Given the description of an element on the screen output the (x, y) to click on. 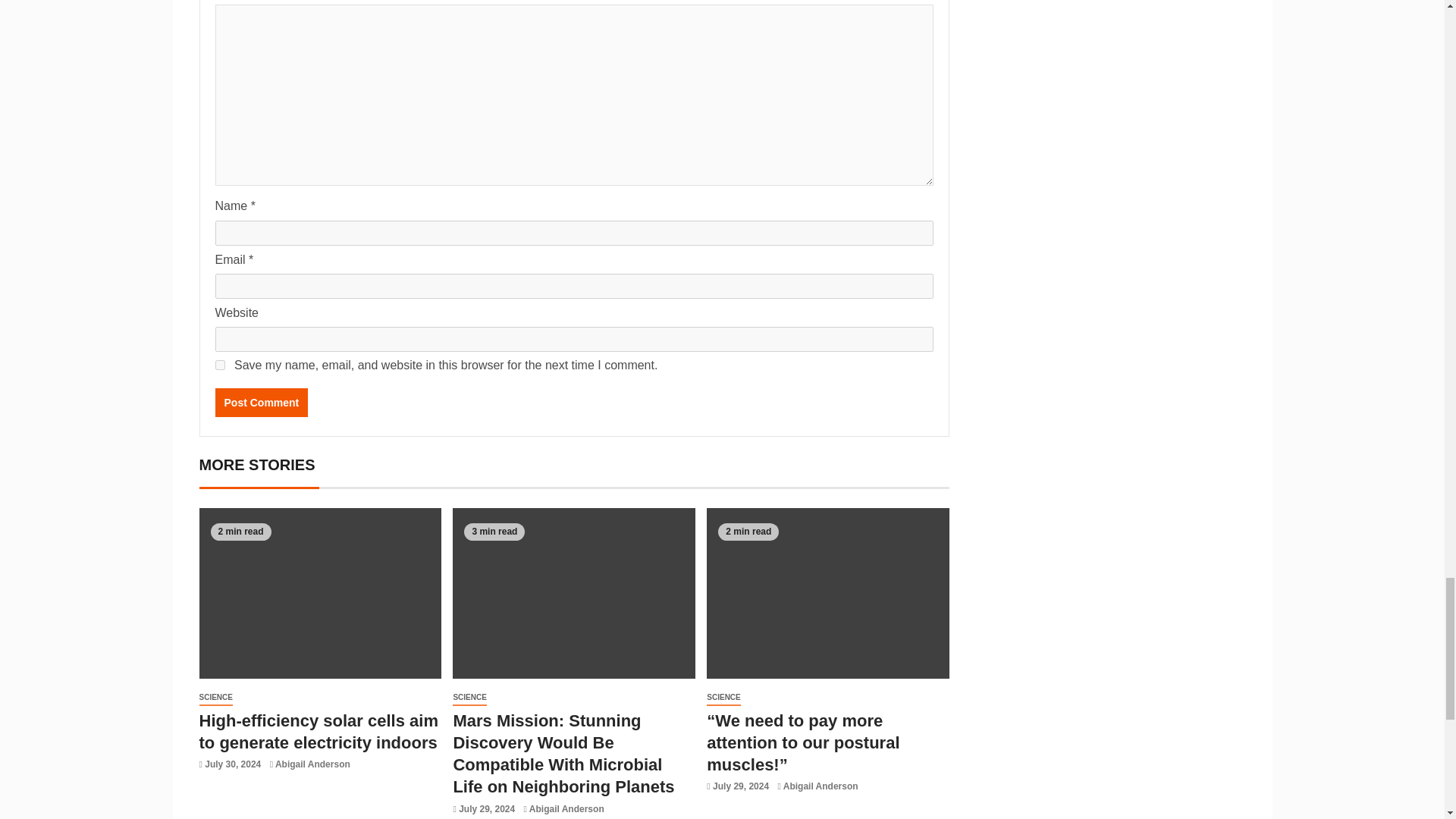
yes (220, 365)
Post Comment (261, 402)
Abigail Anderson (312, 764)
Post Comment (261, 402)
SCIENCE (214, 697)
